Given the description of an element on the screen output the (x, y) to click on. 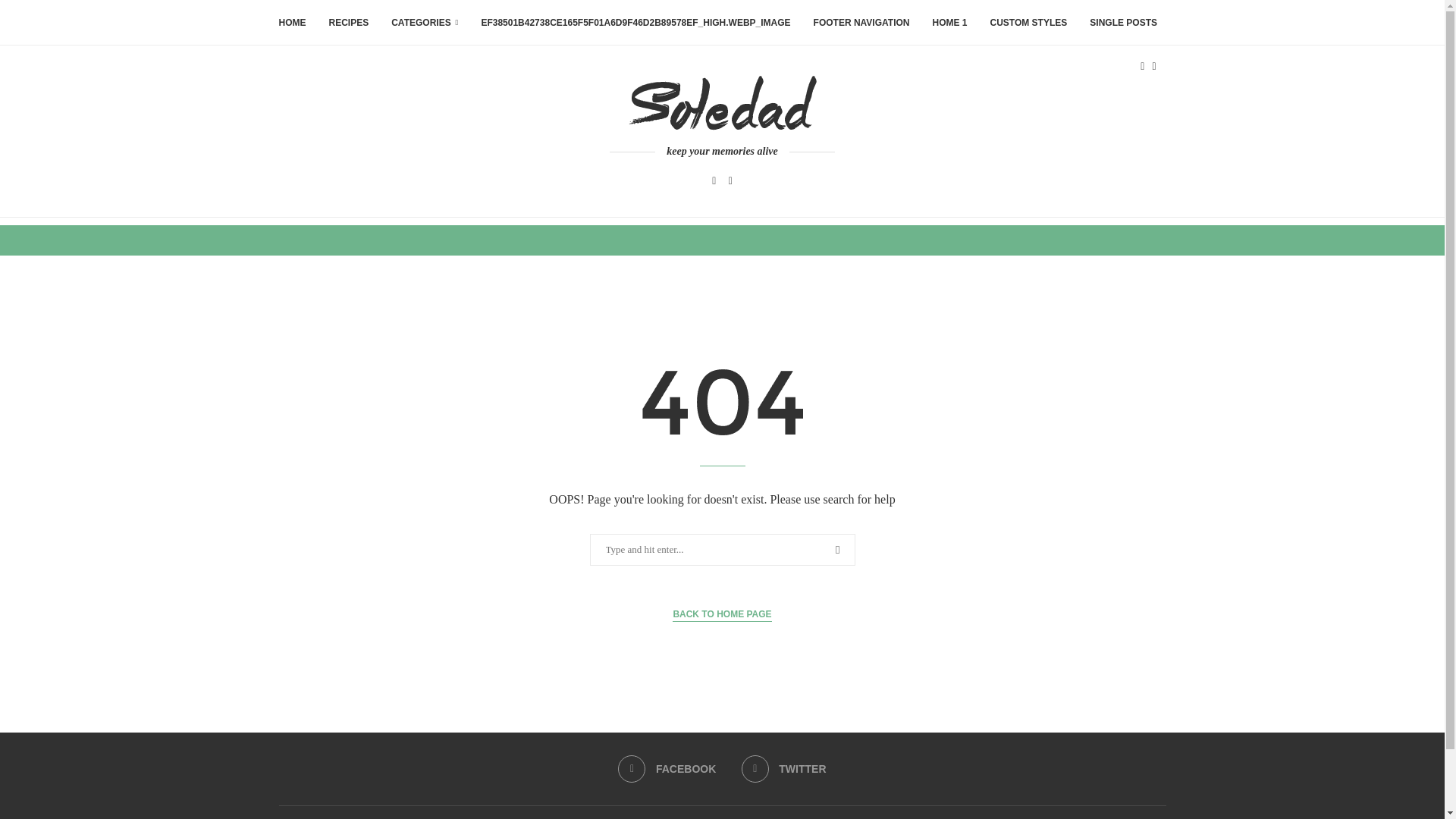
BACK TO HOME PAGE (721, 614)
SINGLE POSTS (1123, 22)
Search (35, 15)
CUSTOM STYLES (1028, 22)
RECIPES (349, 22)
TWITTER (784, 768)
FACEBOOK (666, 768)
CATEGORIES (424, 22)
FOOTER NAVIGATION (861, 22)
